Given the description of an element on the screen output the (x, y) to click on. 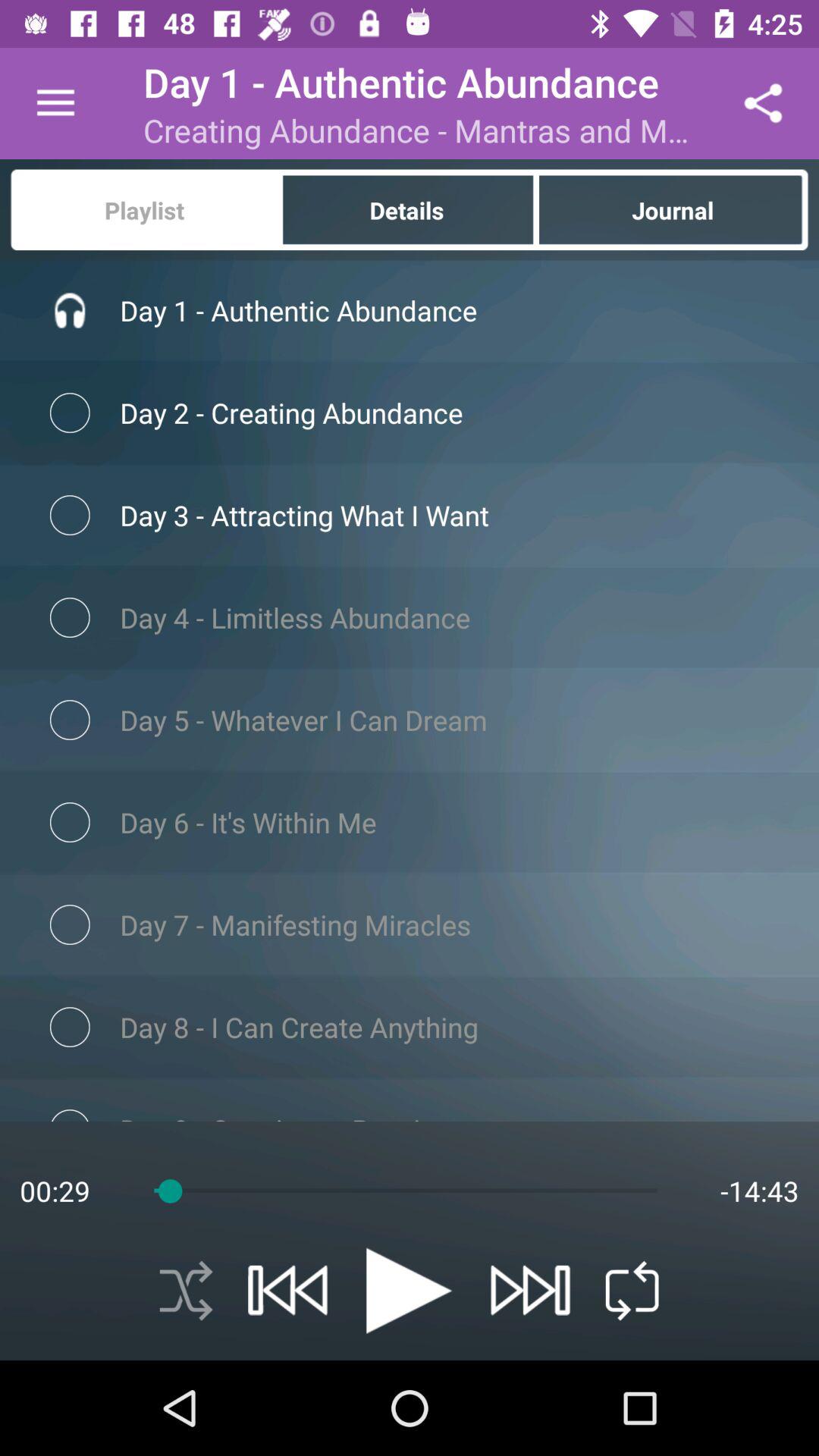
press item next to playlist icon (407, 209)
